Given the description of an element on the screen output the (x, y) to click on. 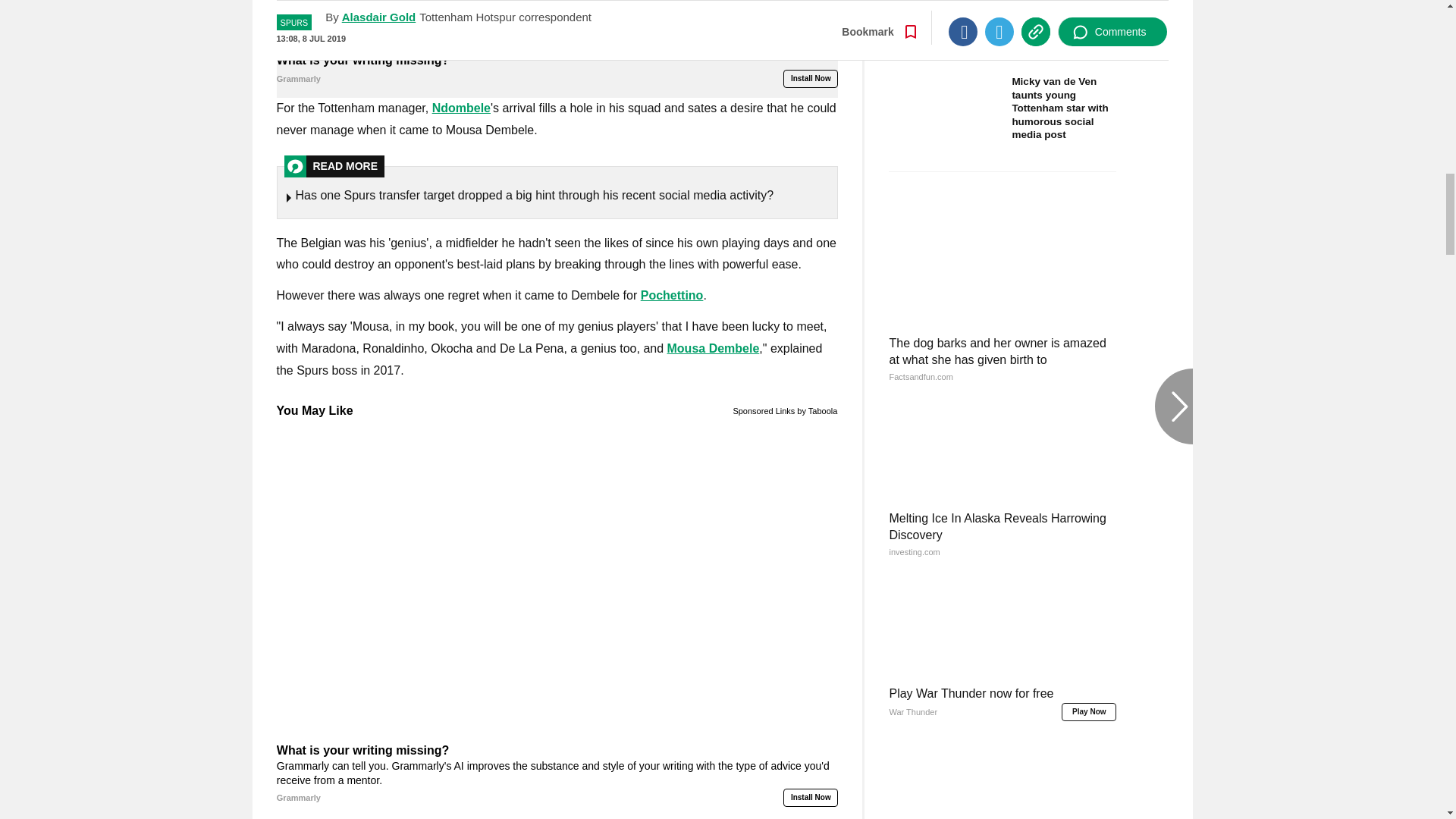
What is your writing missing? (557, 24)
